Given the description of an element on the screen output the (x, y) to click on. 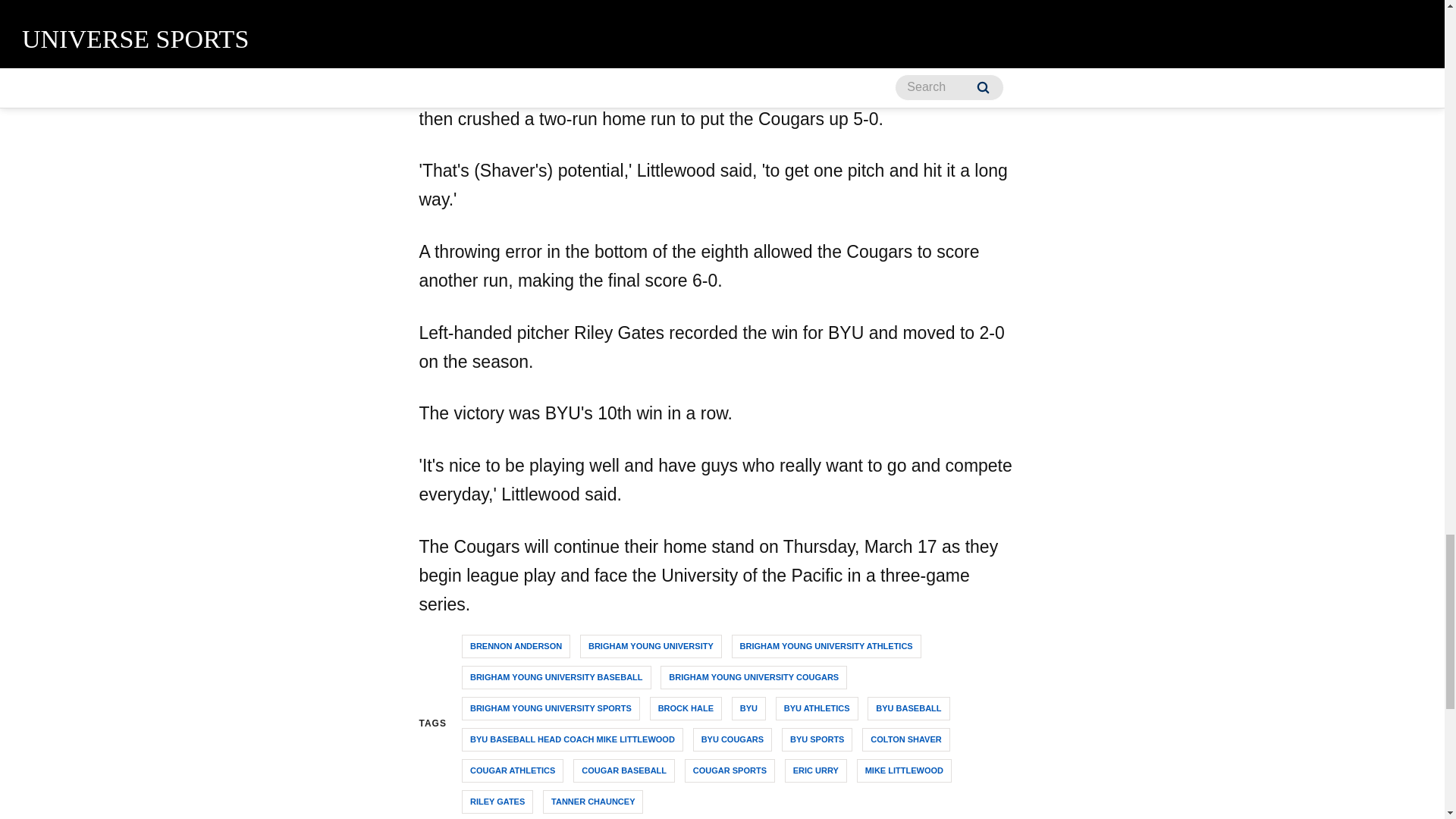
BYU BASEBALL (908, 708)
BYU (748, 708)
BYU BASEBALL HEAD COACH MIKE LITTLEWOOD (571, 739)
BRIGHAM YOUNG UNIVERSITY ATHLETICS (826, 646)
TANNER CHAUNCEY (593, 802)
BYU SPORTS (817, 739)
RILEY GATES (496, 802)
BRIGHAM YOUNG UNIVERSITY COUGARS (754, 677)
COUGAR BASEBALL (624, 770)
COLTON SHAVER (905, 739)
